Given the description of an element on the screen output the (x, y) to click on. 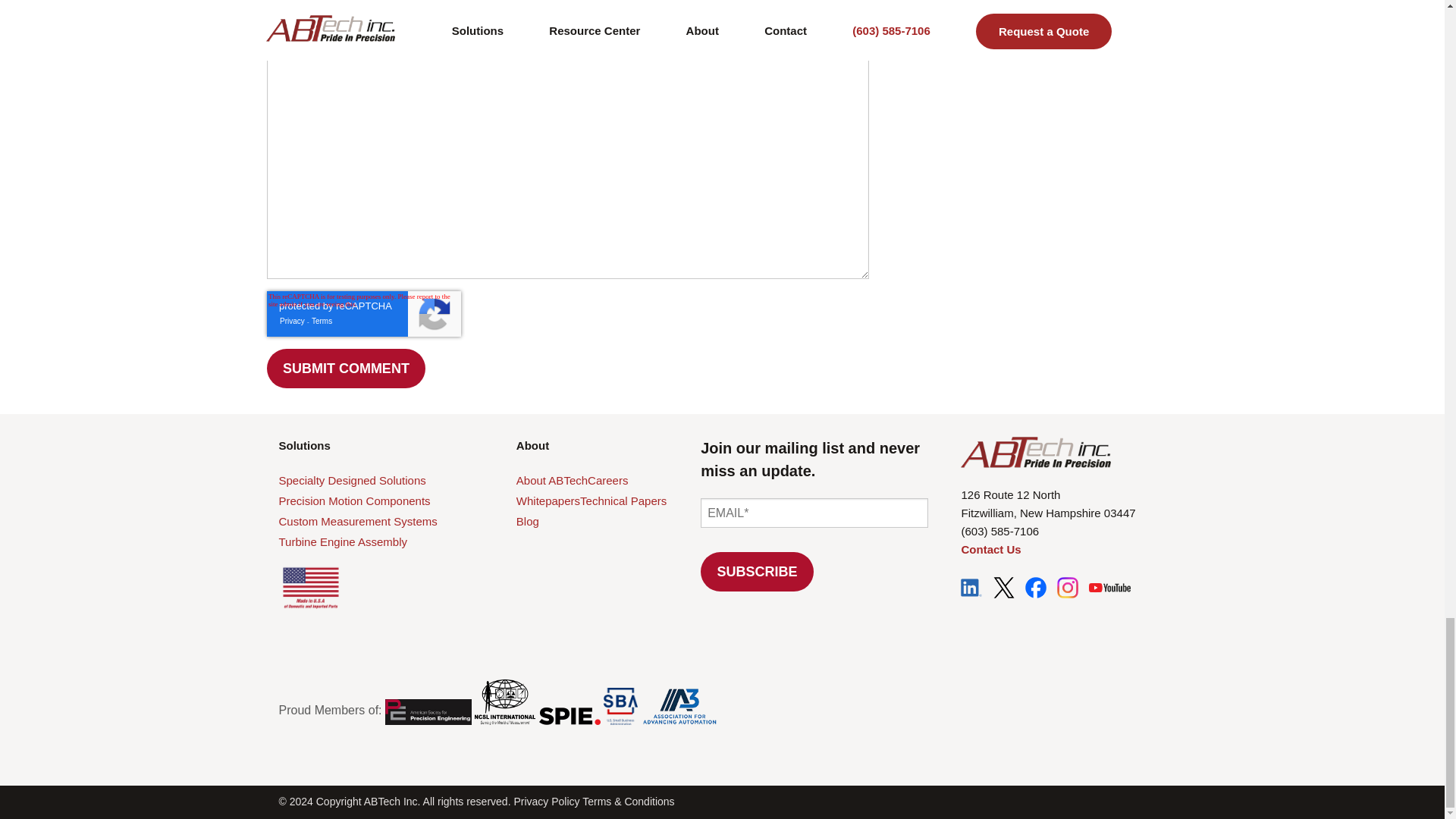
Submit Comment (346, 368)
reCAPTCHA (363, 313)
Subscribe (756, 571)
